Given the description of an element on the screen output the (x, y) to click on. 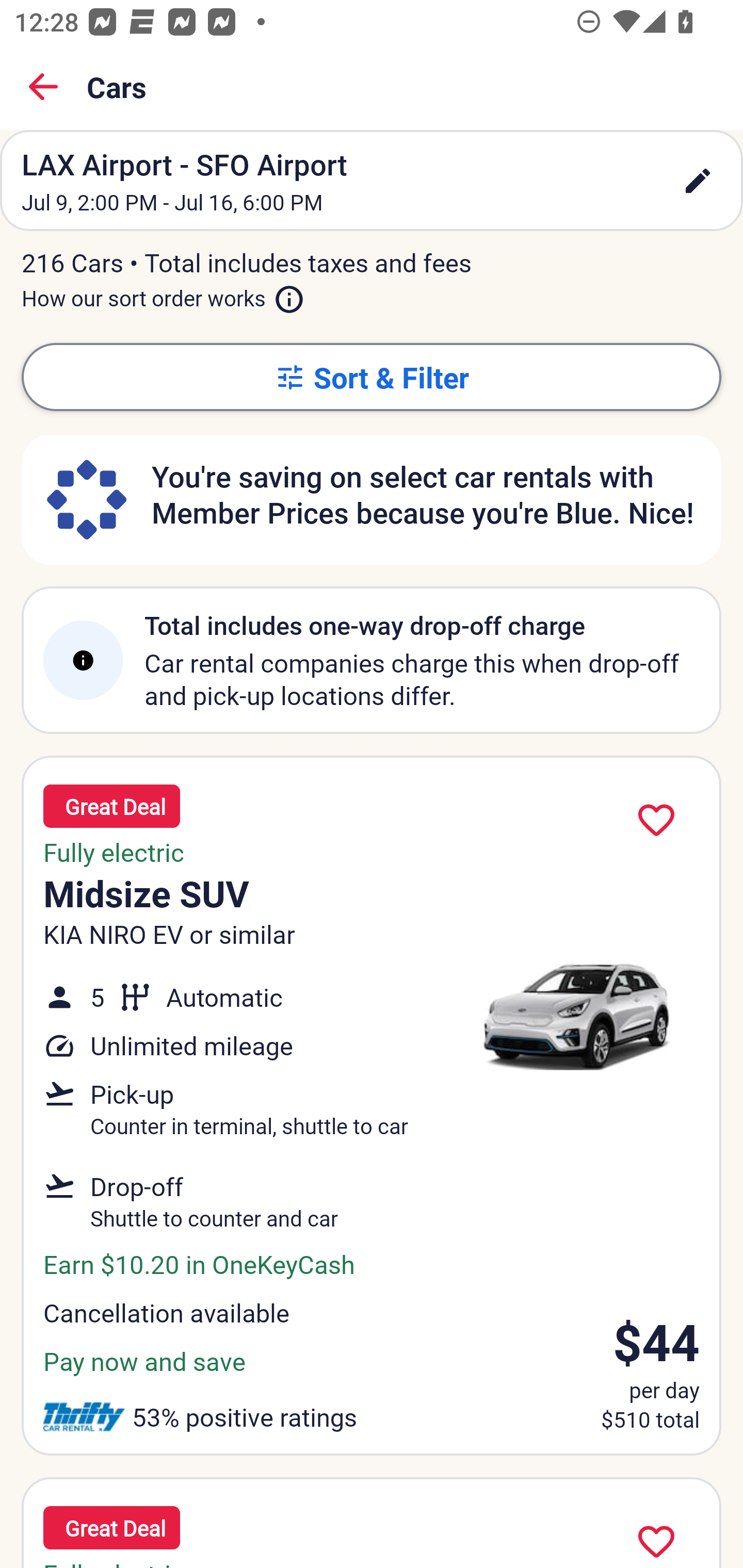
Back (43, 86)
edit (697, 180)
How our sort order works (163, 294)
Sort & Filter (371, 376)
